Given the description of an element on the screen output the (x, y) to click on. 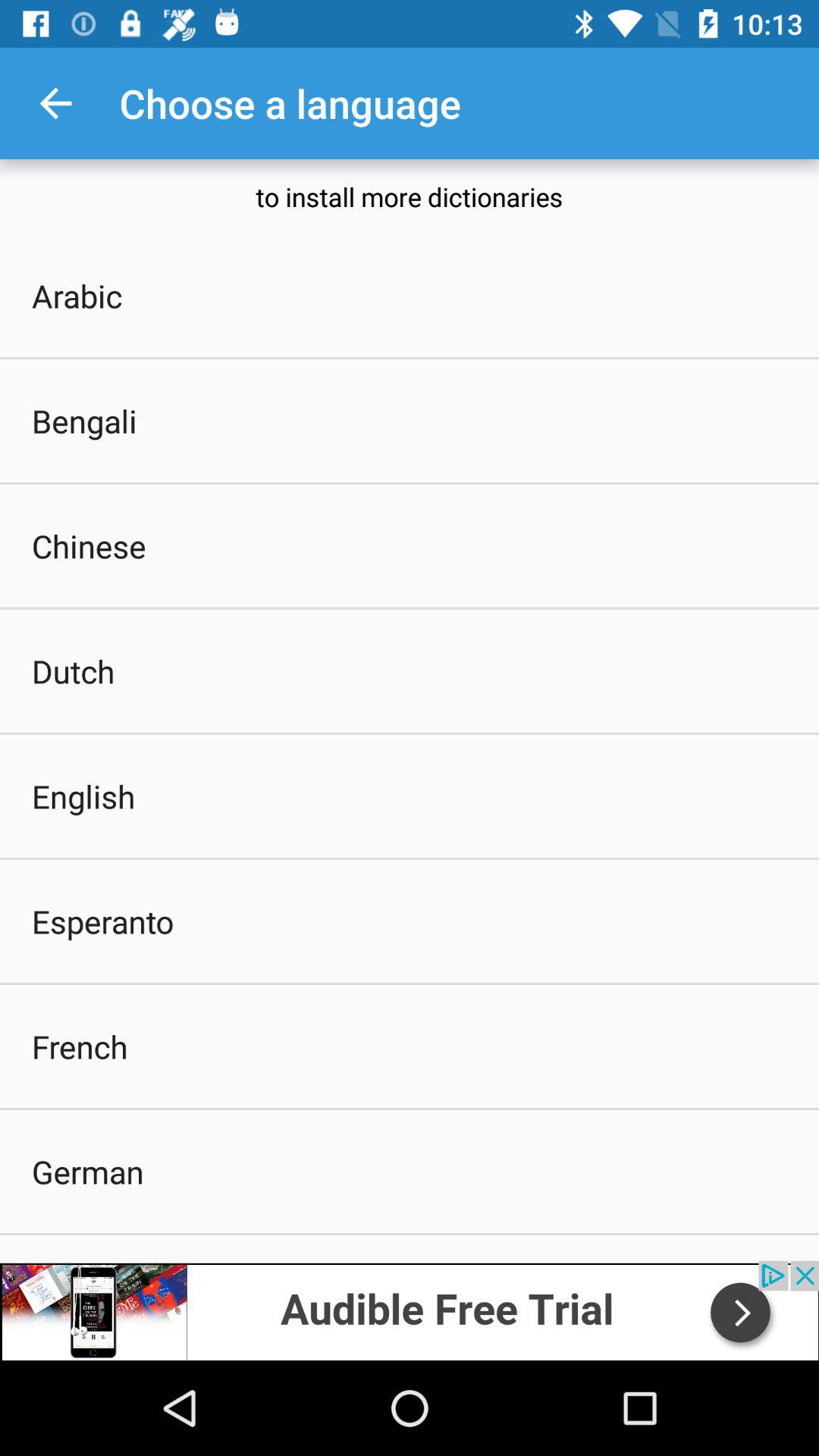
click and open link (409, 1310)
